Given the description of an element on the screen output the (x, y) to click on. 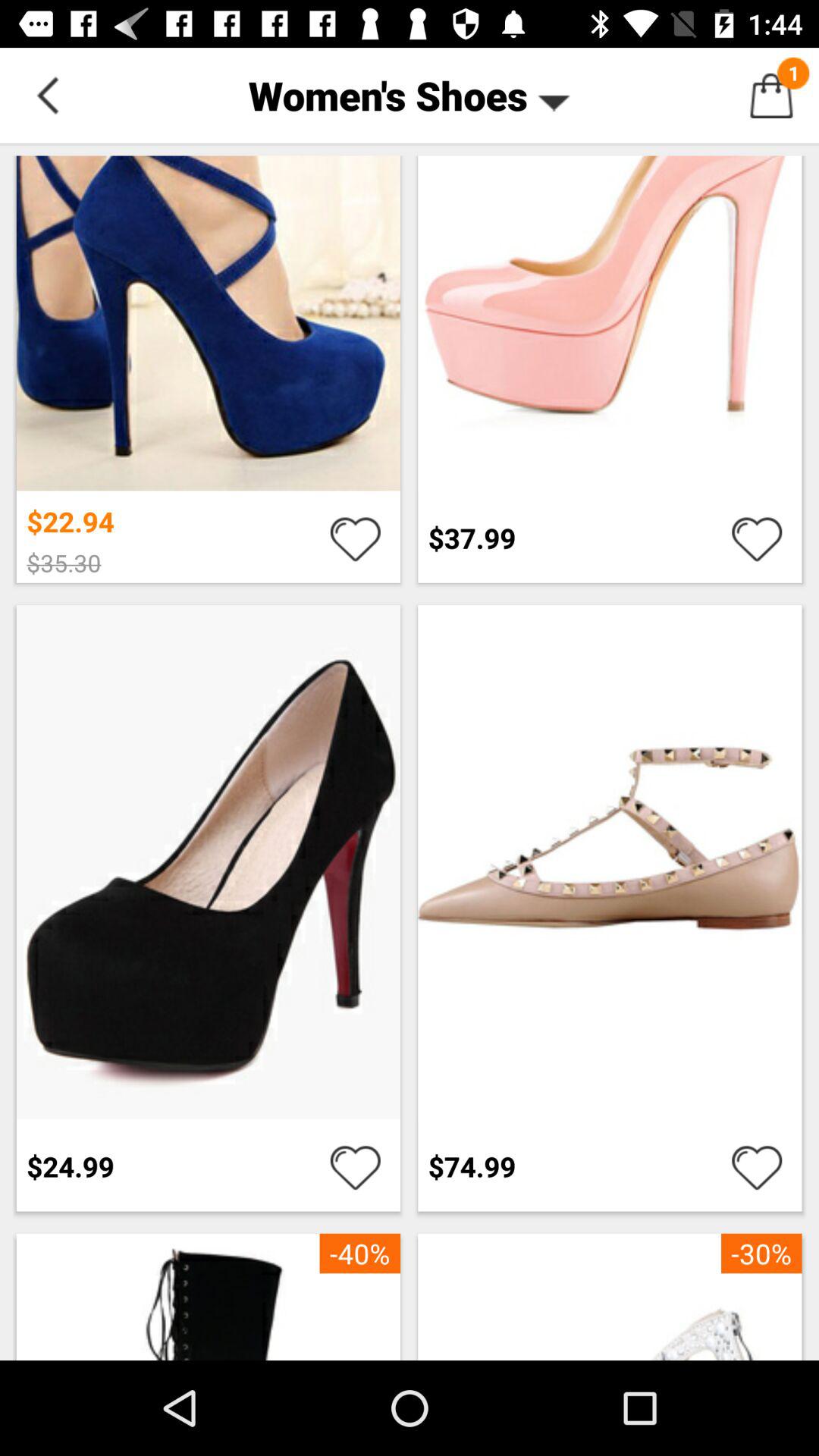
shows favourite icon (756, 537)
